Given the description of an element on the screen output the (x, y) to click on. 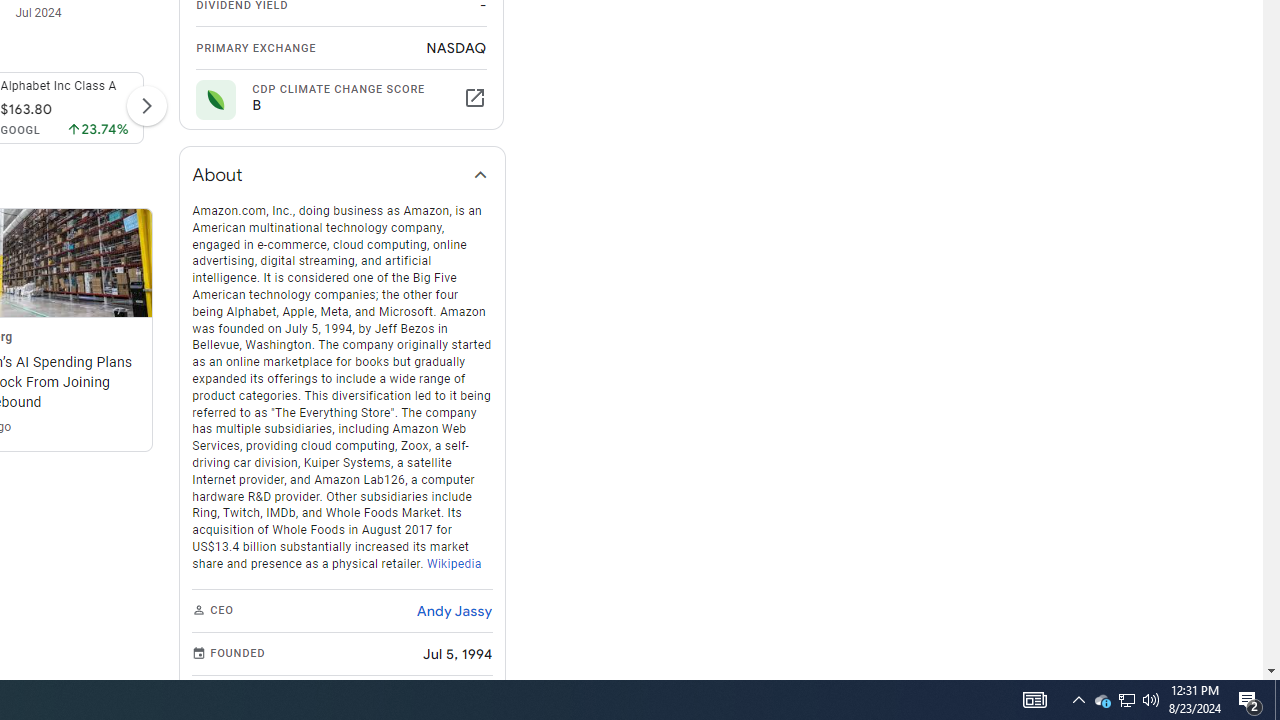
Wikipedia (454, 562)
Andy Jassy (454, 609)
